Given the description of an element on the screen output the (x, y) to click on. 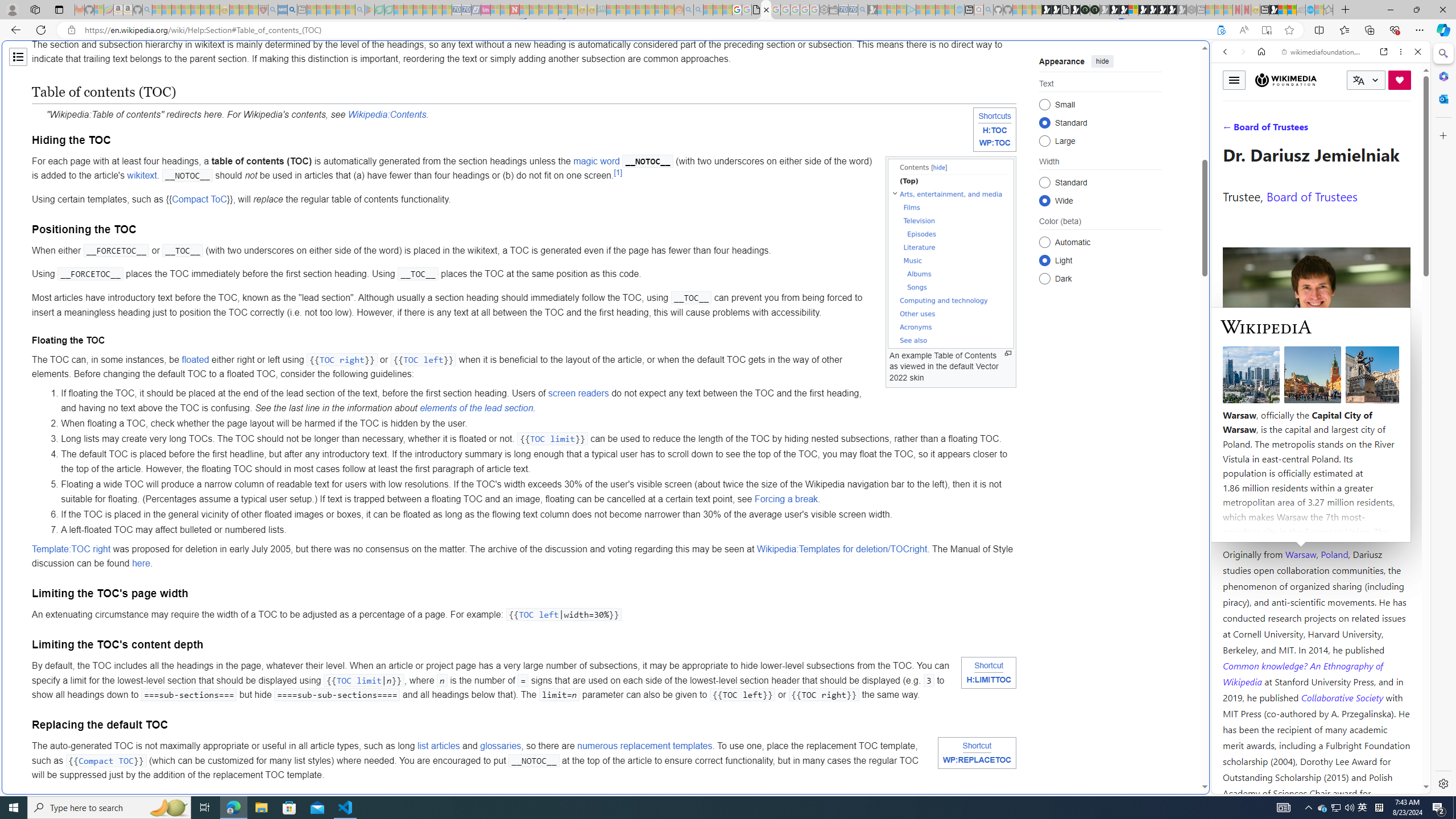
Dark (1044, 278)
wikimediafoundation.org (1323, 51)
Wikipedia:Templates for deletion/TOCright (842, 548)
Close split screen (1208, 57)
Cheap Hotels - Save70.com - Sleeping (466, 9)
